Given the description of an element on the screen output the (x, y) to click on. 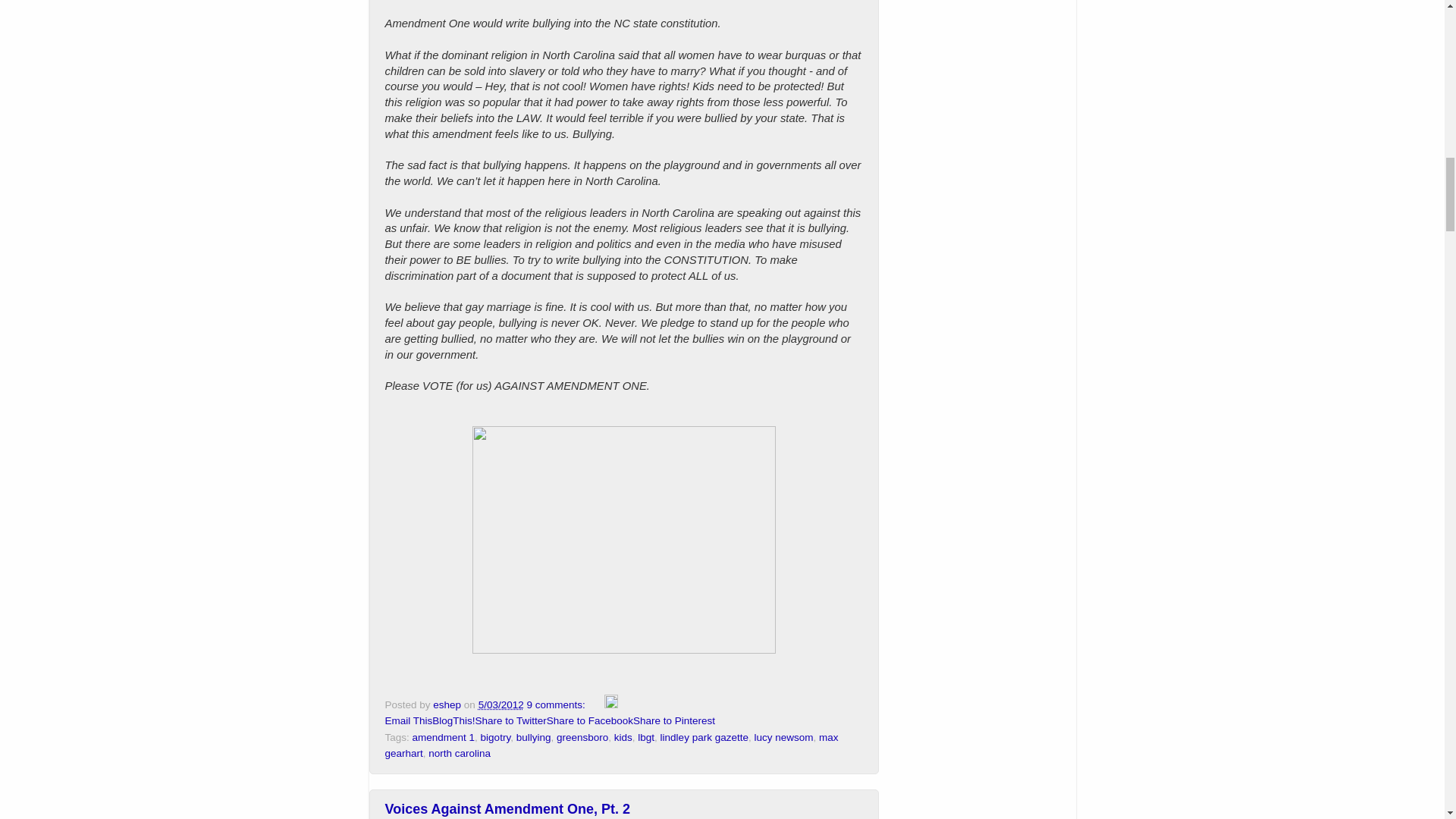
Email This (408, 720)
Email This (408, 720)
Share to Facebook (590, 720)
9 comments: (556, 704)
permanent link (501, 704)
BlogThis! (453, 720)
Edit Post (610, 704)
Email Post (596, 704)
author profile (448, 704)
eshep (448, 704)
Share to Twitter (511, 720)
BlogThis! (453, 720)
